Given the description of an element on the screen output the (x, y) to click on. 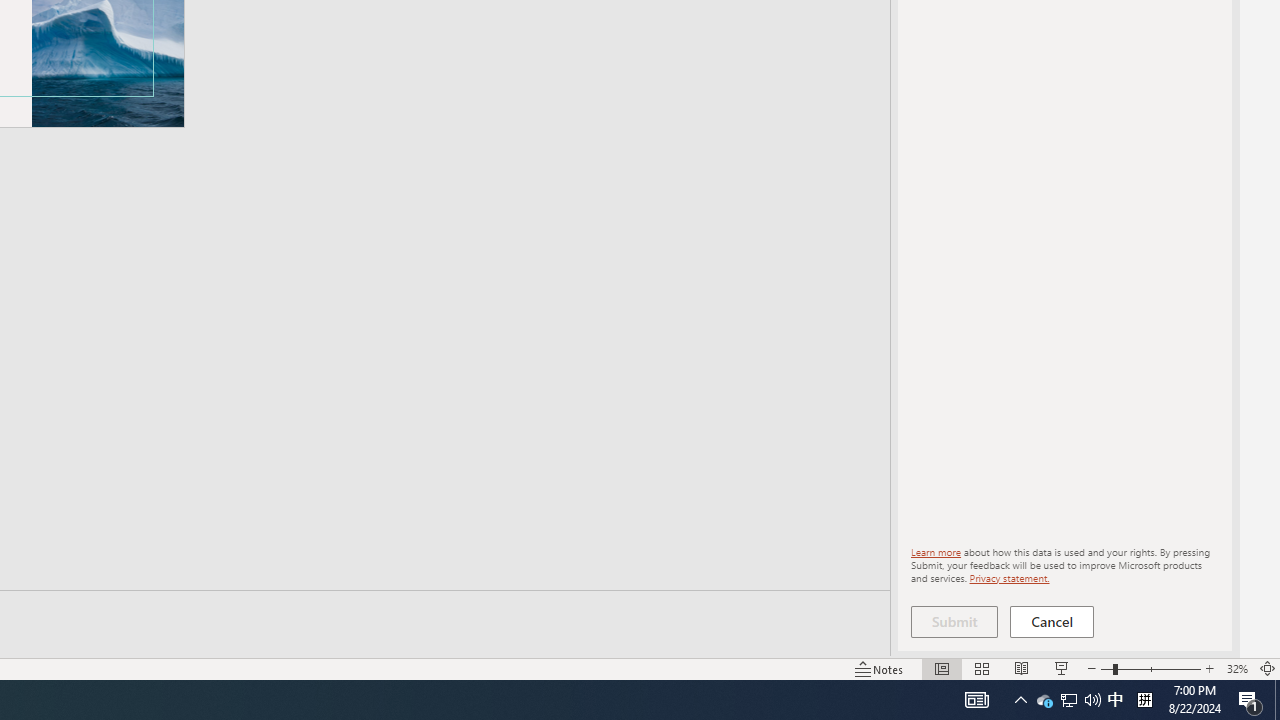
Zoom 32% (1236, 668)
Submit (954, 621)
Privacy statement. (1008, 577)
Cancel (1051, 621)
Learn more (936, 551)
